Given the description of an element on the screen output the (x, y) to click on. 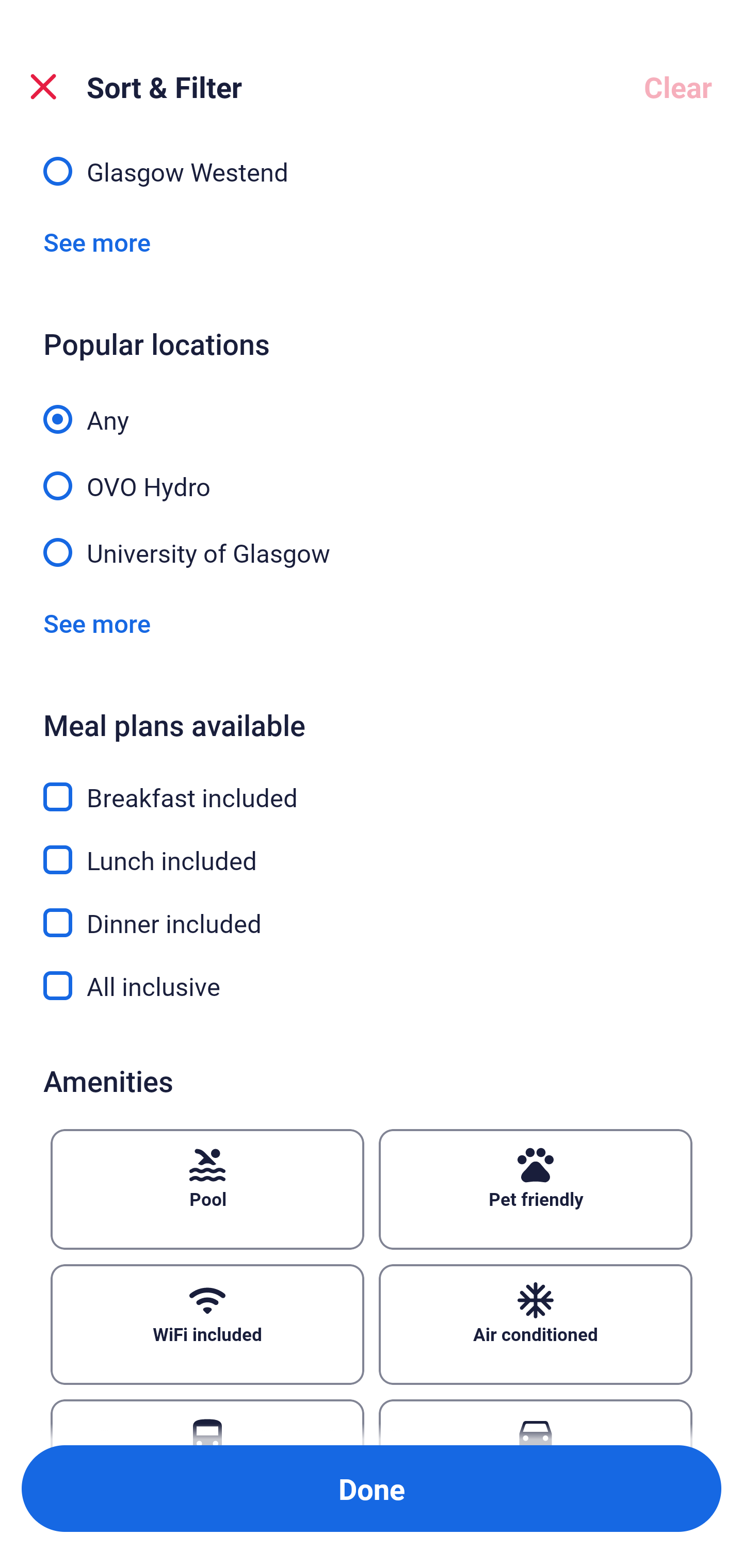
Close Sort and Filter (43, 86)
Clear (677, 86)
Glasgow Westend (371, 171)
See more See more neighborhoods Link (96, 242)
OVO Hydro (371, 475)
University of Glasgow (371, 551)
See more See more popular locations Link (96, 623)
Breakfast included, Breakfast included (371, 785)
Lunch included, Lunch included (371, 847)
Dinner included, Dinner included (371, 910)
All inclusive, All inclusive (371, 986)
Pool (207, 1188)
Pet friendly (535, 1188)
WiFi included (207, 1323)
Air conditioned (535, 1323)
Apply and close Sort and Filter Done (371, 1488)
